Given the description of an element on the screen output the (x, y) to click on. 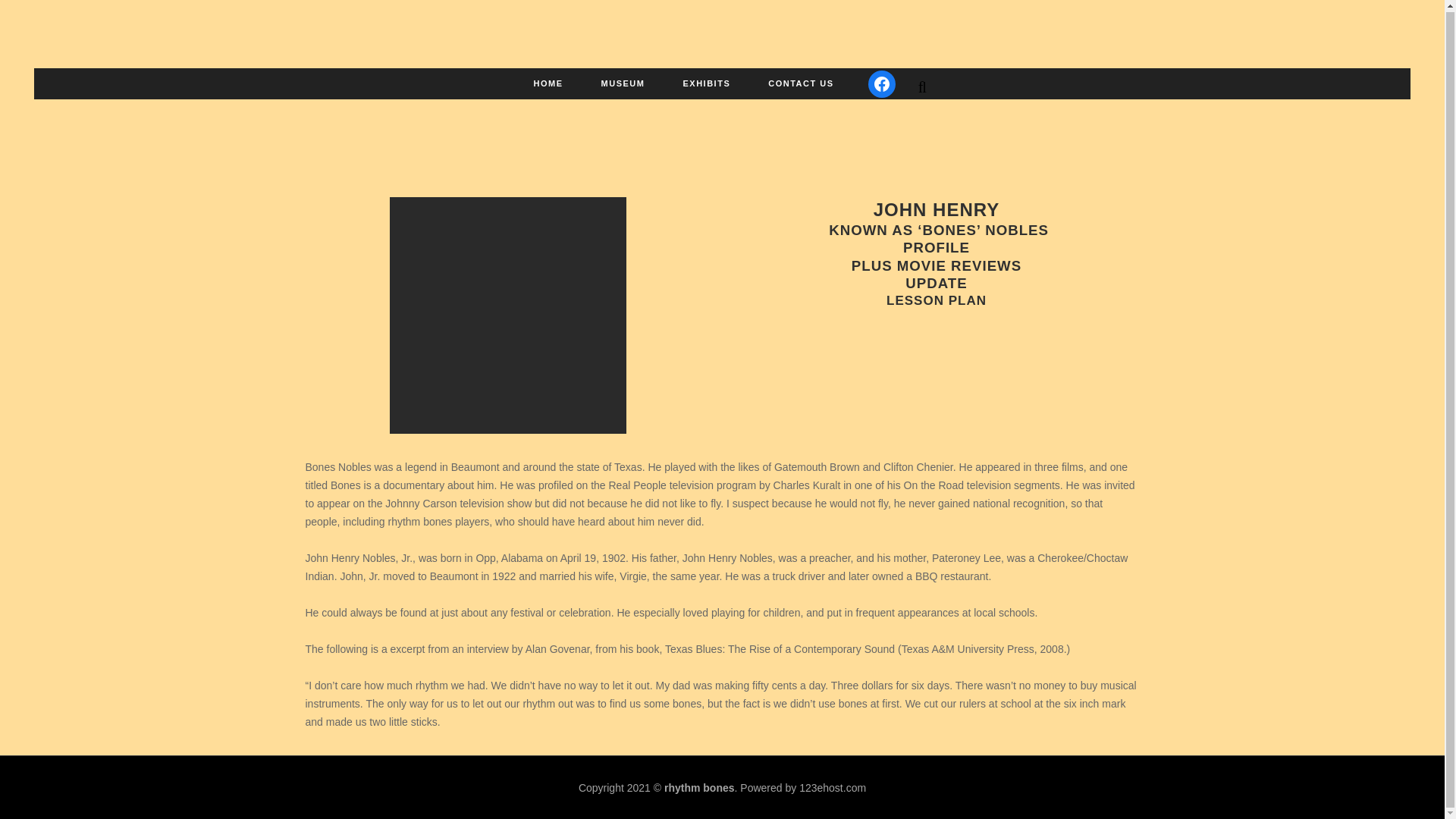
Facebook (881, 82)
HOME (548, 82)
UPDATE (935, 283)
CONTACT US (800, 82)
EXHIBITS (706, 82)
PROFILE (935, 247)
MUSEUM (622, 82)
LESSON PLAN (936, 300)
